Given the description of an element on the screen output the (x, y) to click on. 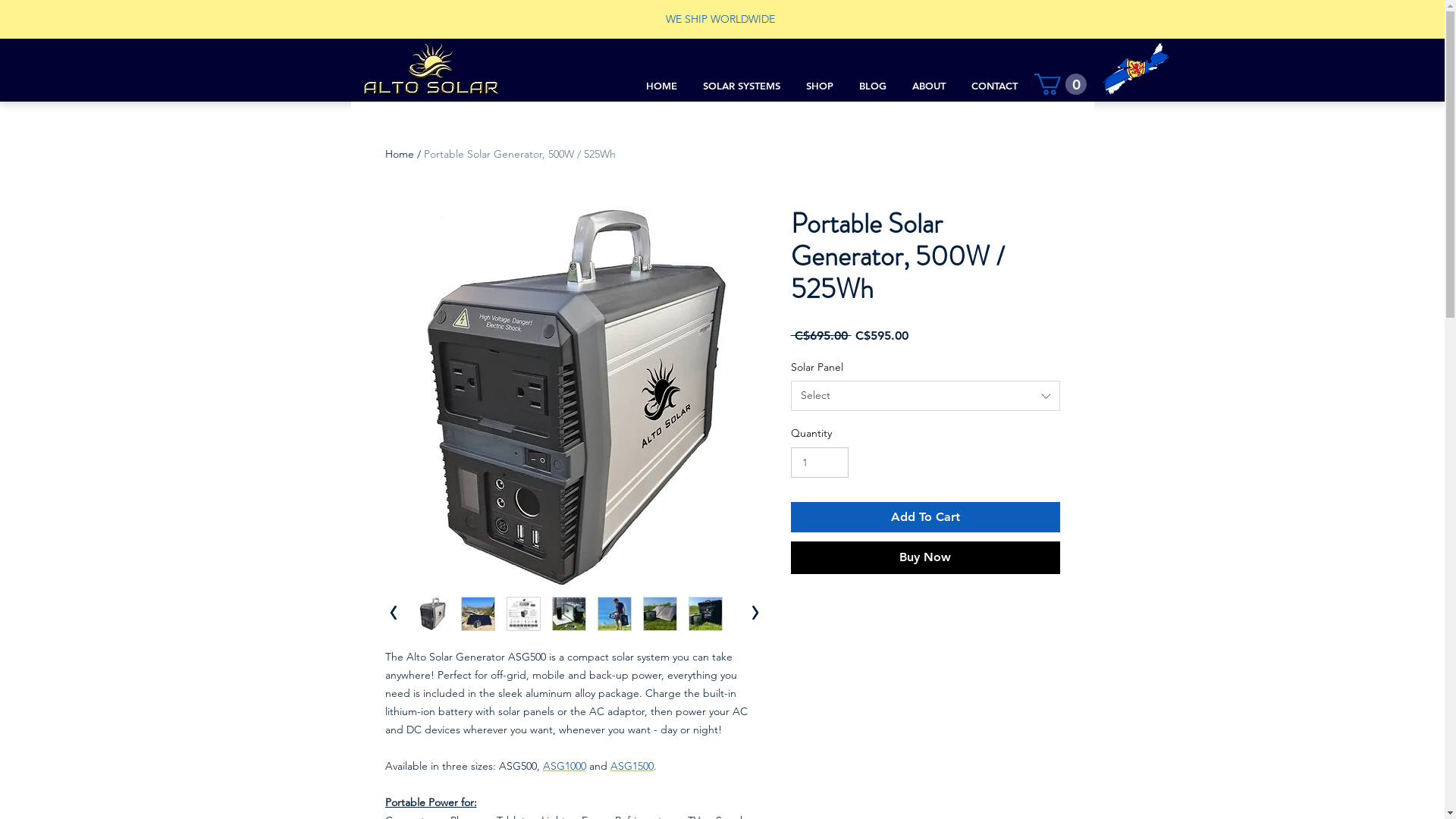
Select Element type: text (924, 395)
WE SHIP WORLDWIDE Element type: text (720, 18)
Add To Cart Element type: text (924, 517)
Portable Solar Generator, 500W / 525Wh Element type: text (519, 153)
Buy Now Element type: text (924, 557)
ABOUT Element type: text (928, 85)
SHOP Element type: text (819, 85)
SOLAR SYSTEMS Element type: text (741, 85)
ASG1000 Element type: text (564, 765)
Home Element type: text (399, 153)
0 Element type: text (1060, 83)
ASG1500 Element type: text (630, 765)
HOME Element type: text (660, 85)
BLOG Element type: text (872, 85)
CONTACT Element type: text (994, 85)
